Given the description of an element on the screen output the (x, y) to click on. 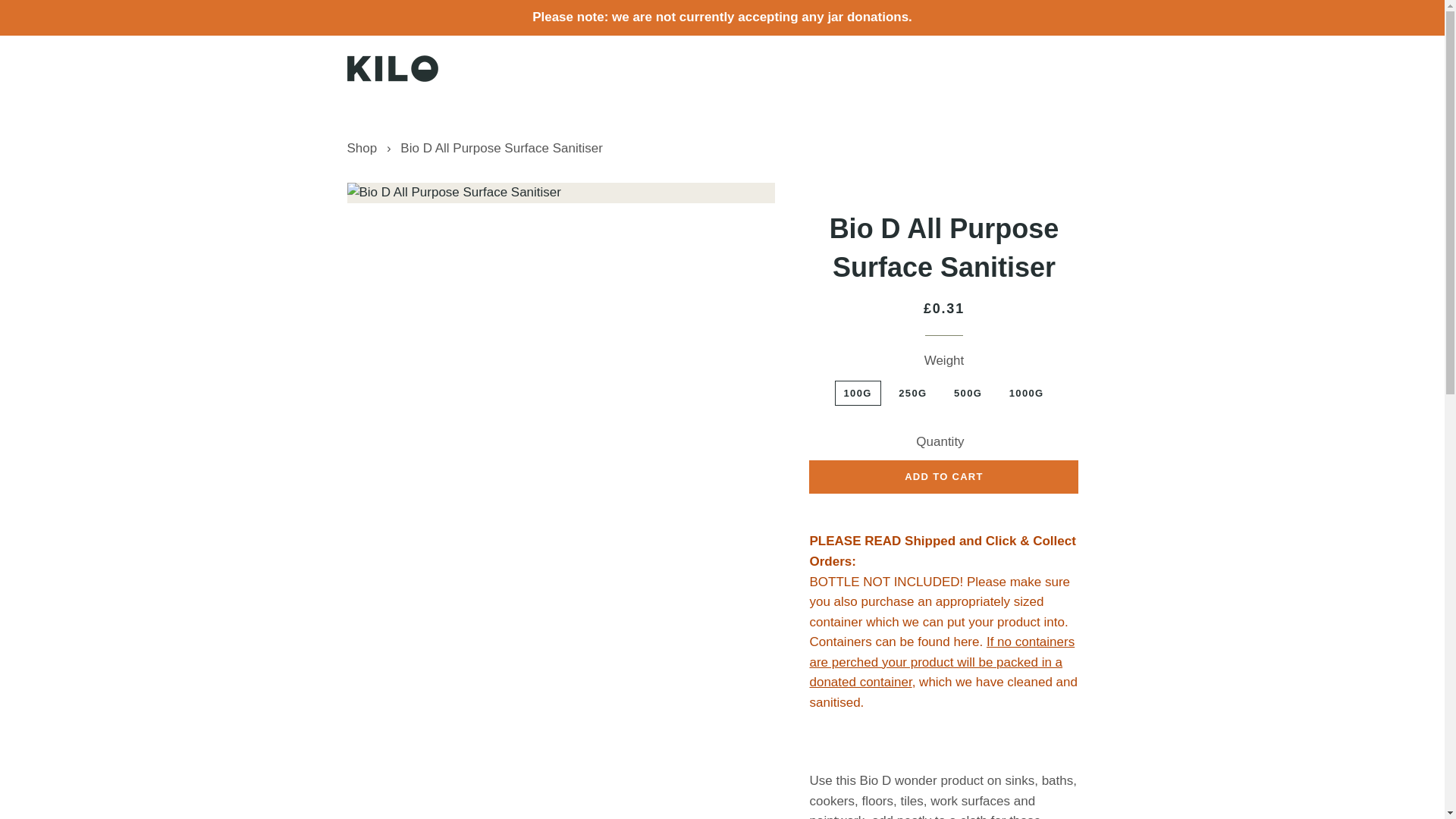
Shop (362, 147)
Home (362, 147)
ADD TO CART (943, 476)
here (965, 641)
